Given the description of an element on the screen output the (x, y) to click on. 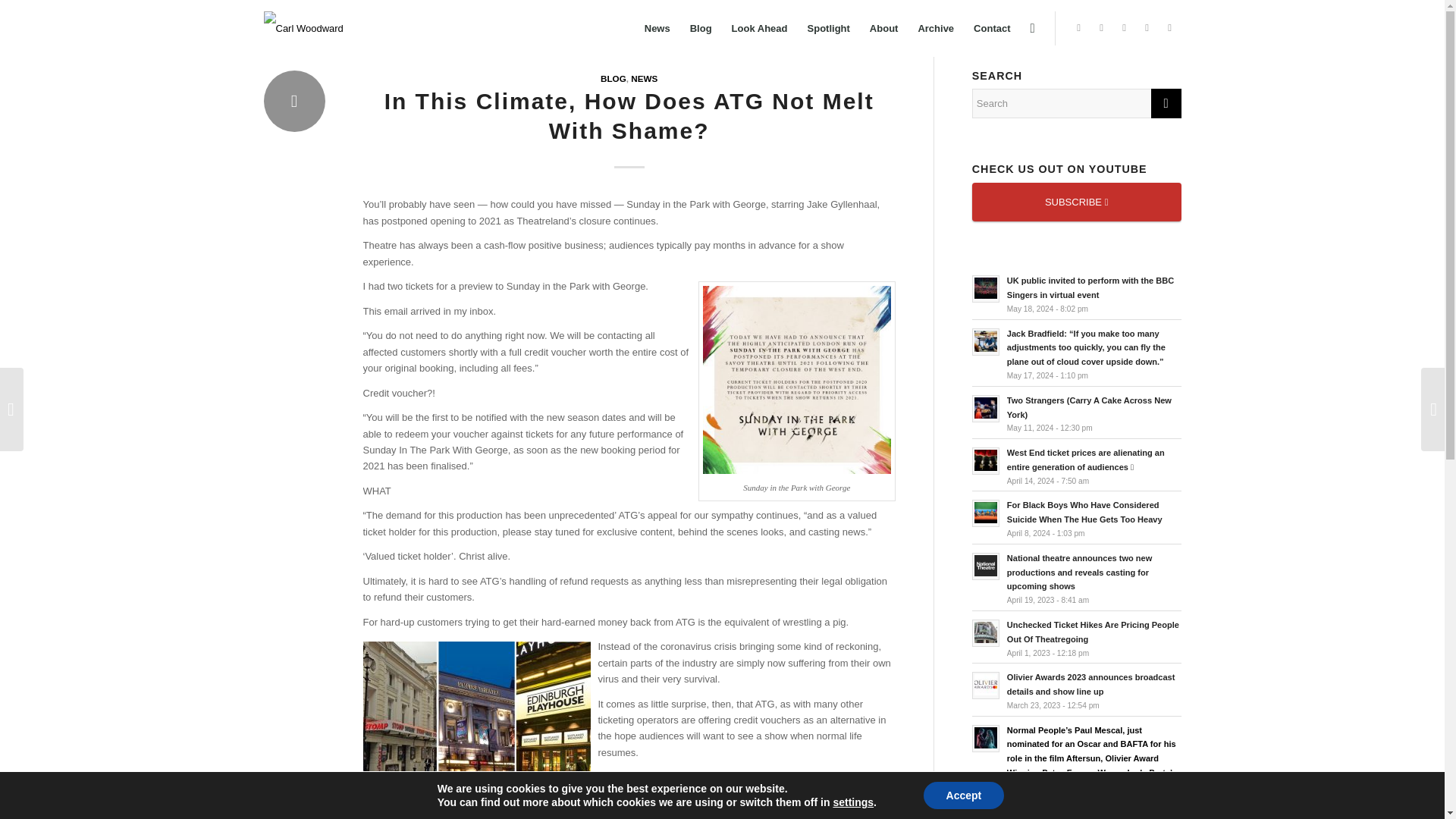
About (884, 28)
NEWS (644, 78)
Spotlight (828, 28)
Linkedin (1124, 27)
In This Climate, How Does ATG Not Melt With Shame? (629, 115)
News (656, 28)
Twitter (1101, 27)
BLOG (612, 78)
Archive (935, 28)
Facebook (1078, 27)
Look Ahead (759, 28)
Contact (991, 28)
Blog (700, 28)
Instagram (1169, 27)
Youtube (1146, 27)
